Given the description of an element on the screen output the (x, y) to click on. 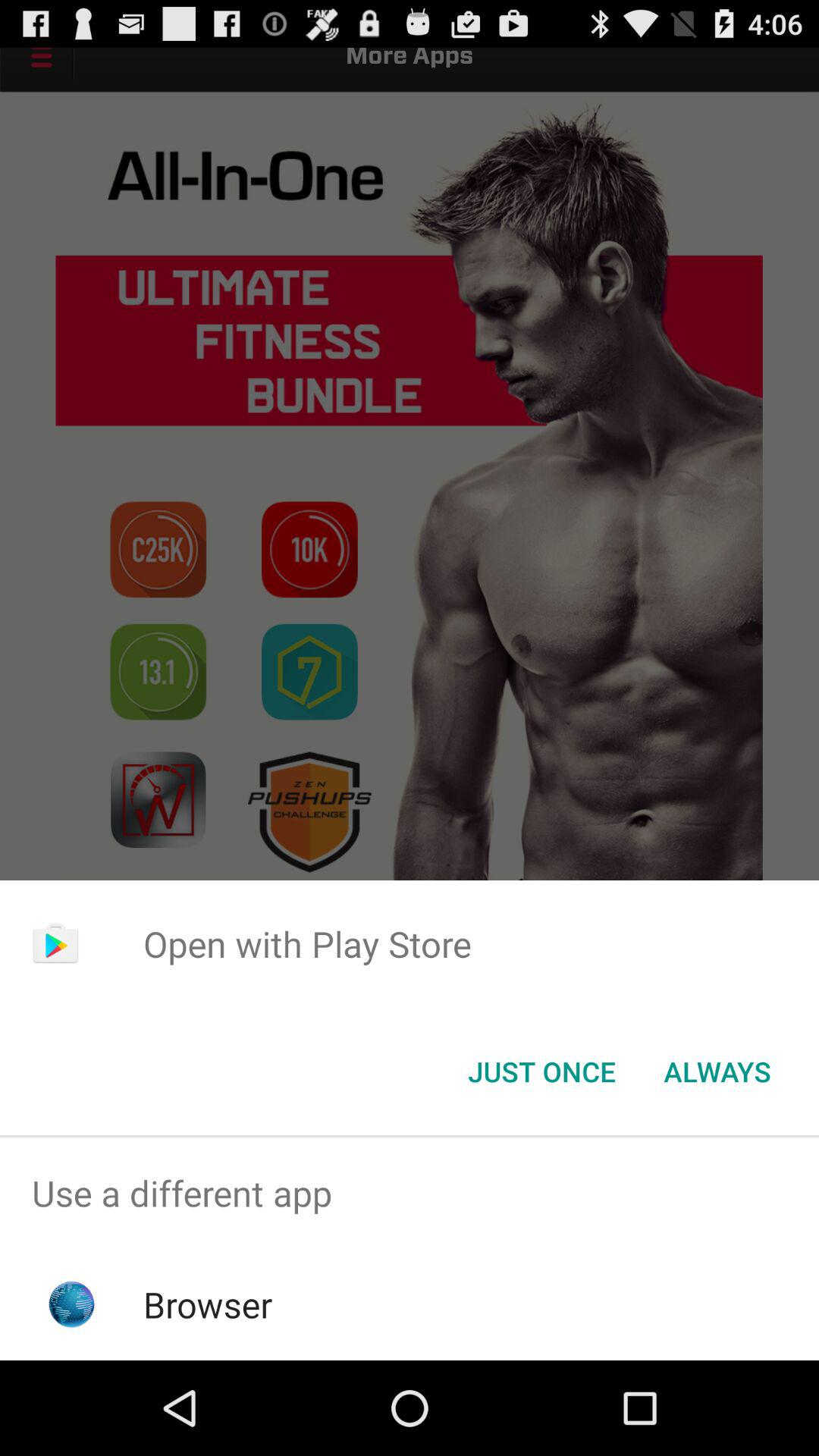
press the use a different (409, 1192)
